Given the description of an element on the screen output the (x, y) to click on. 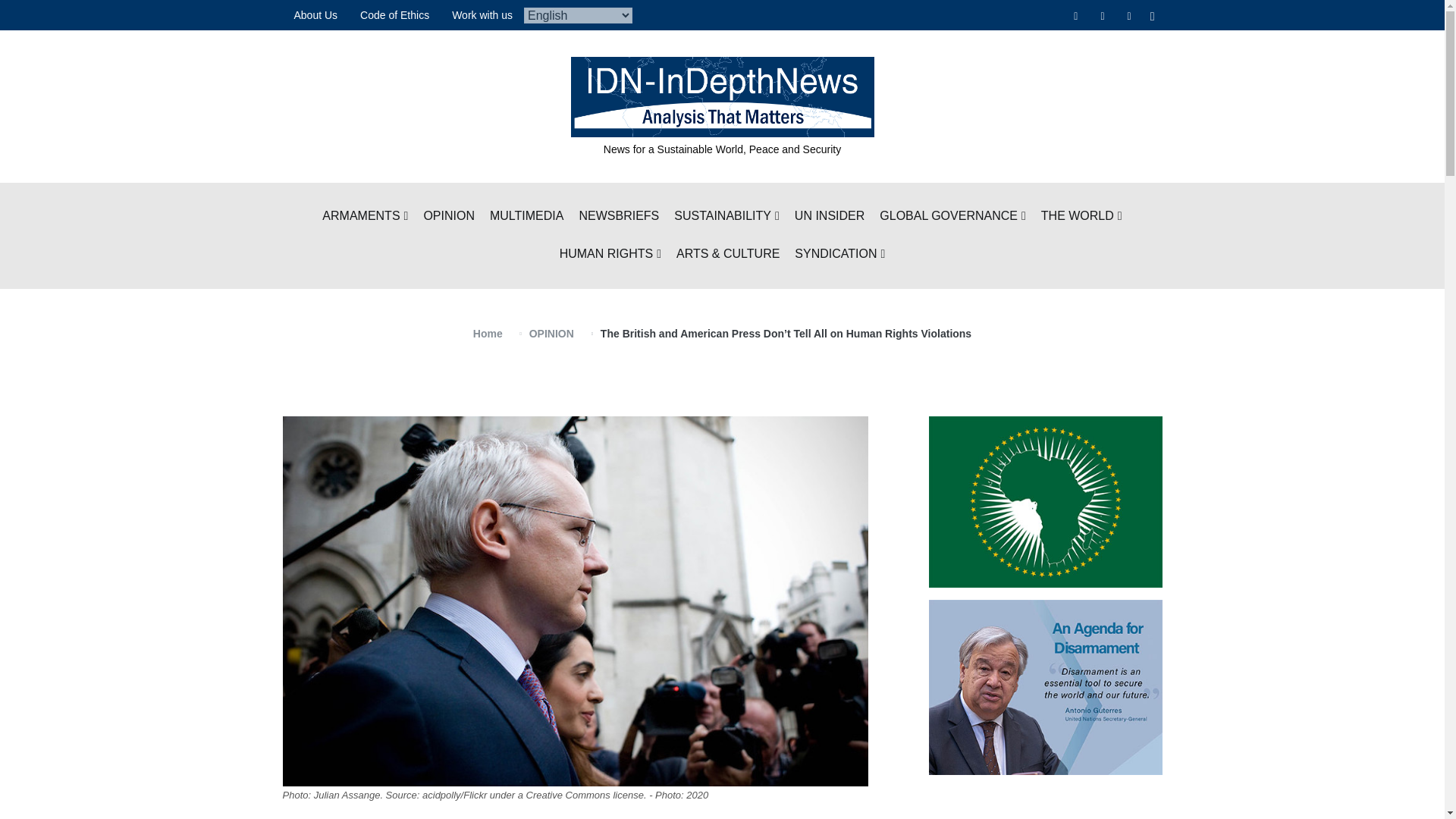
Code of Ethics (395, 14)
OPINION (448, 216)
MULTIMEDIA (526, 216)
UN INSIDER (829, 216)
ARMAMENTS (364, 216)
NEWSBRIEFS (618, 216)
GLOBAL GOVERNANCE (952, 216)
About Us (315, 14)
SUSTAINABILITY (726, 216)
Work with us (482, 14)
